Given the description of an element on the screen output the (x, y) to click on. 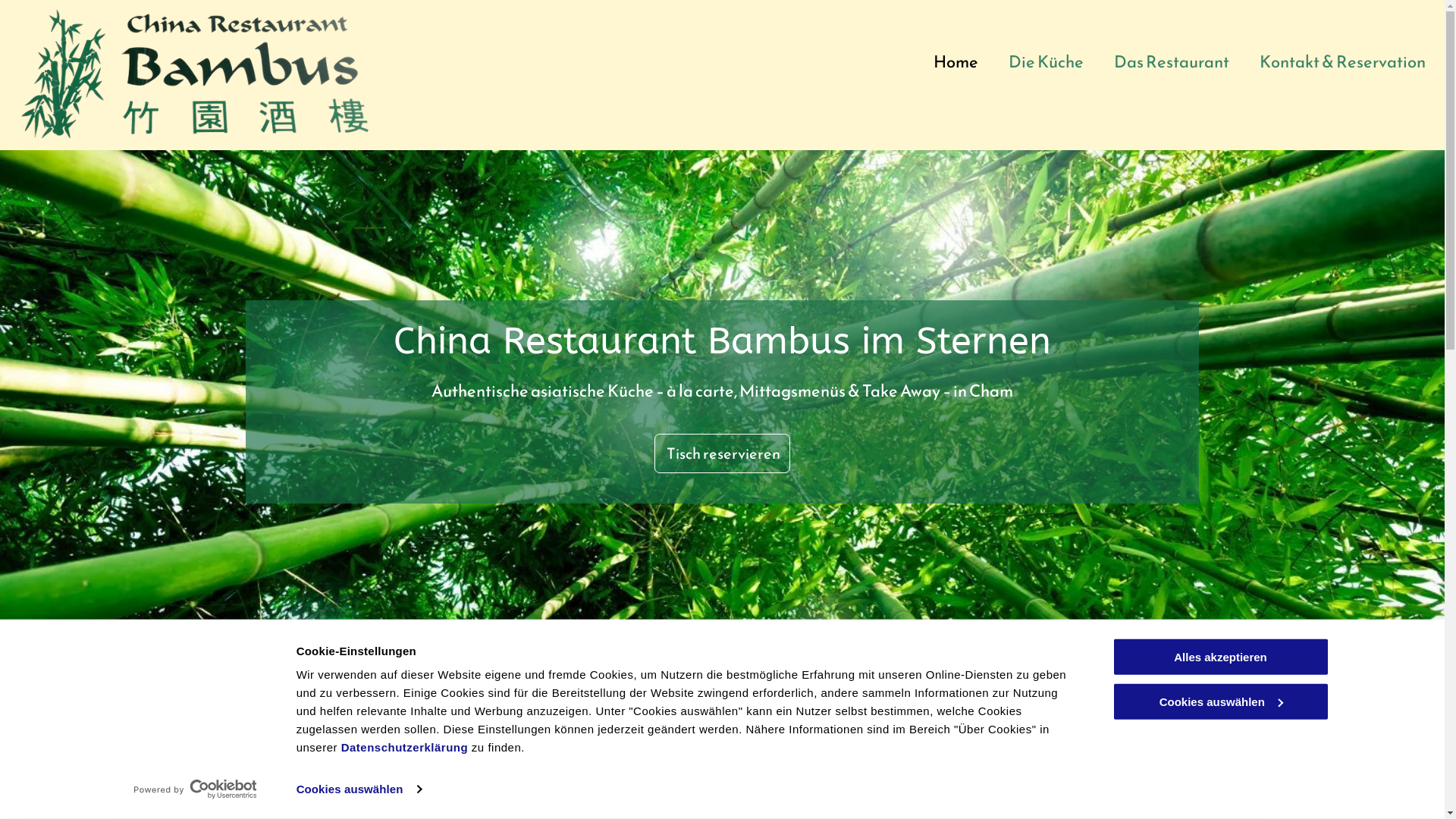
Alles akzeptieren Element type: text (1219, 656)
Home Element type: text (955, 62)
Tisch reservieren Element type: text (722, 453)
Kontakt & Reservation Element type: text (1342, 62)
Das Restaurant Element type: text (1171, 62)
